Given the description of an element on the screen output the (x, y) to click on. 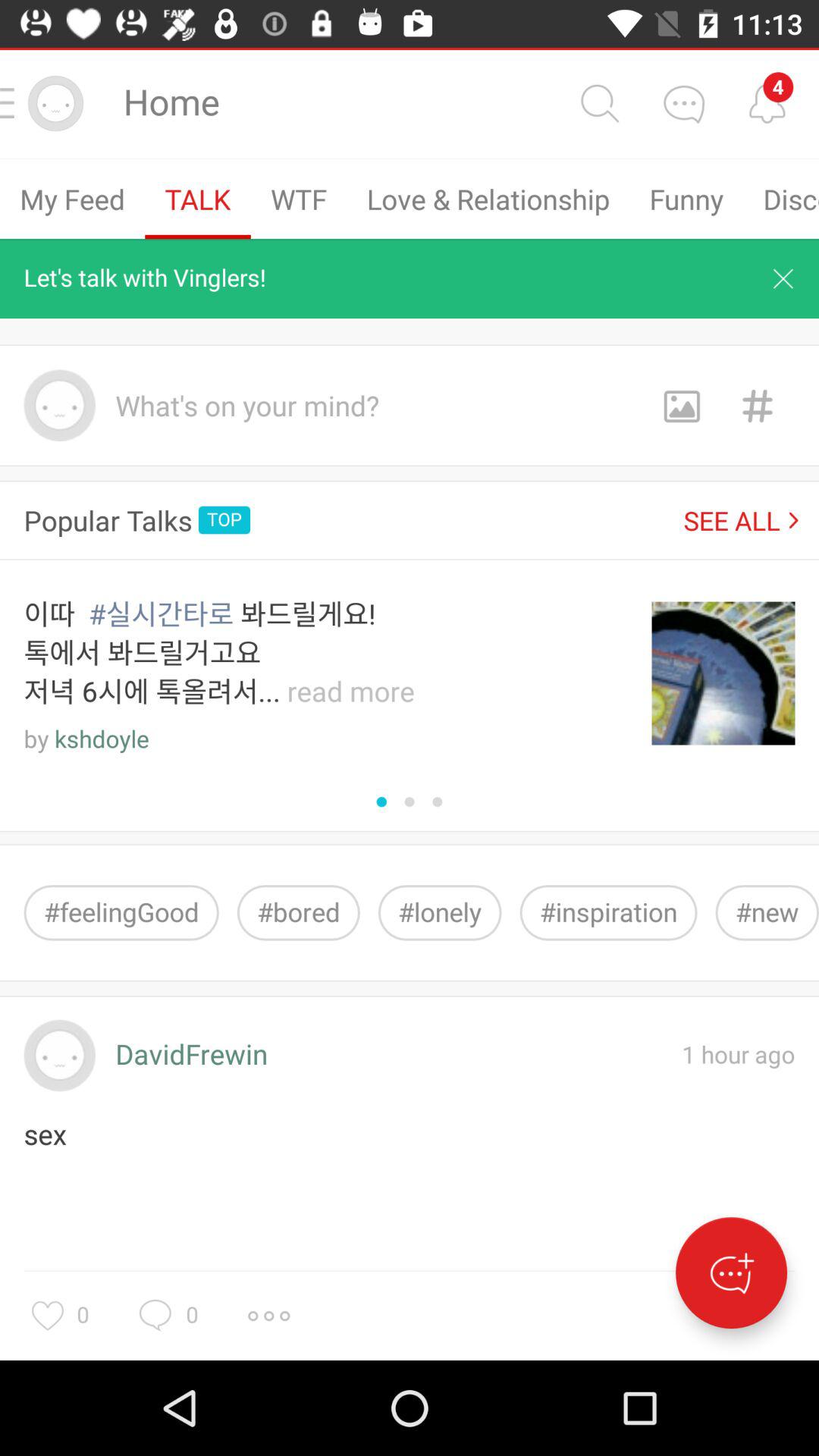
press the item to the left of davidfrewin icon (59, 1055)
